Given the description of an element on the screen output the (x, y) to click on. 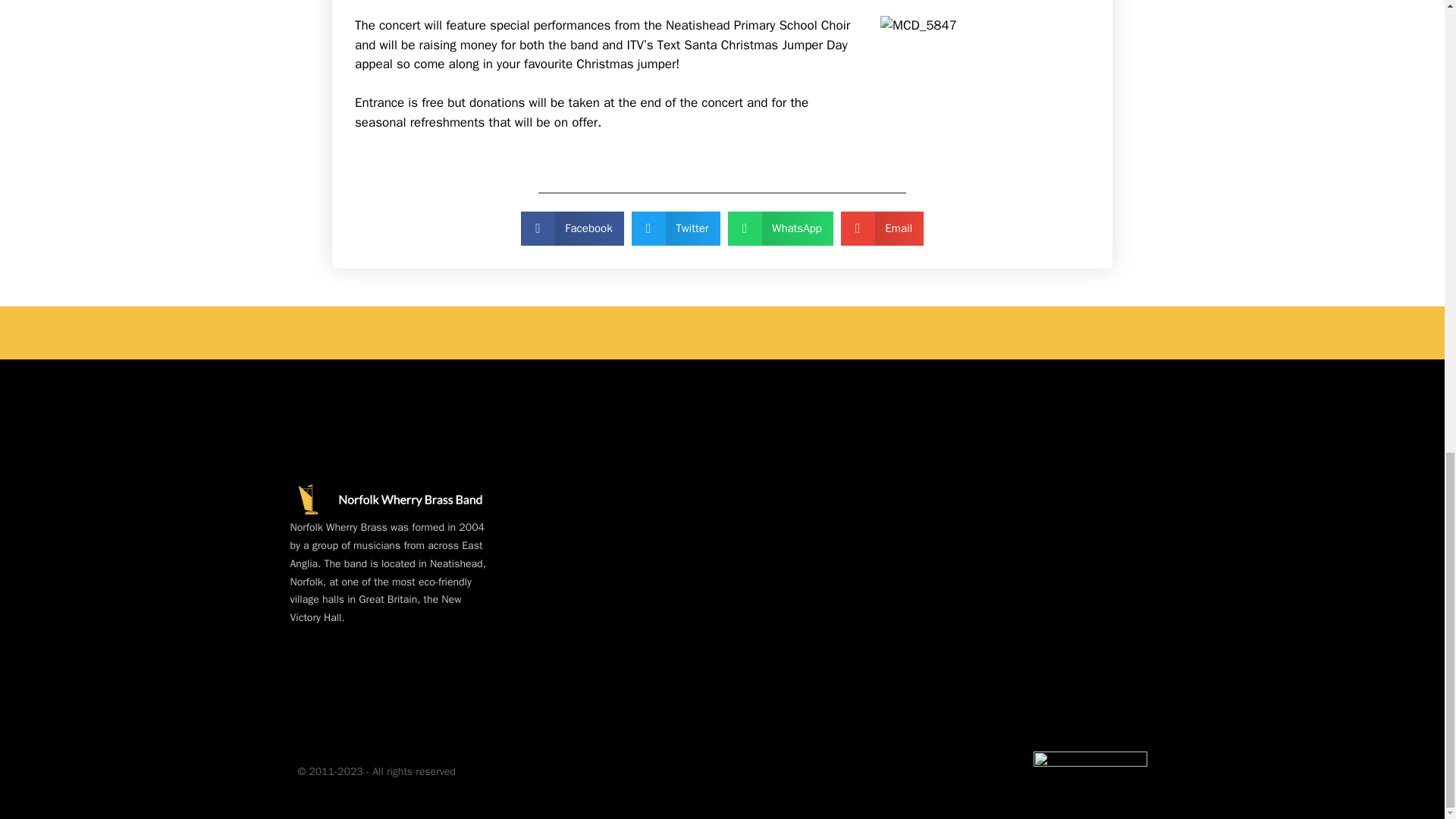
Scroll back to top (1406, 519)
